Given the description of an element on the screen output the (x, y) to click on. 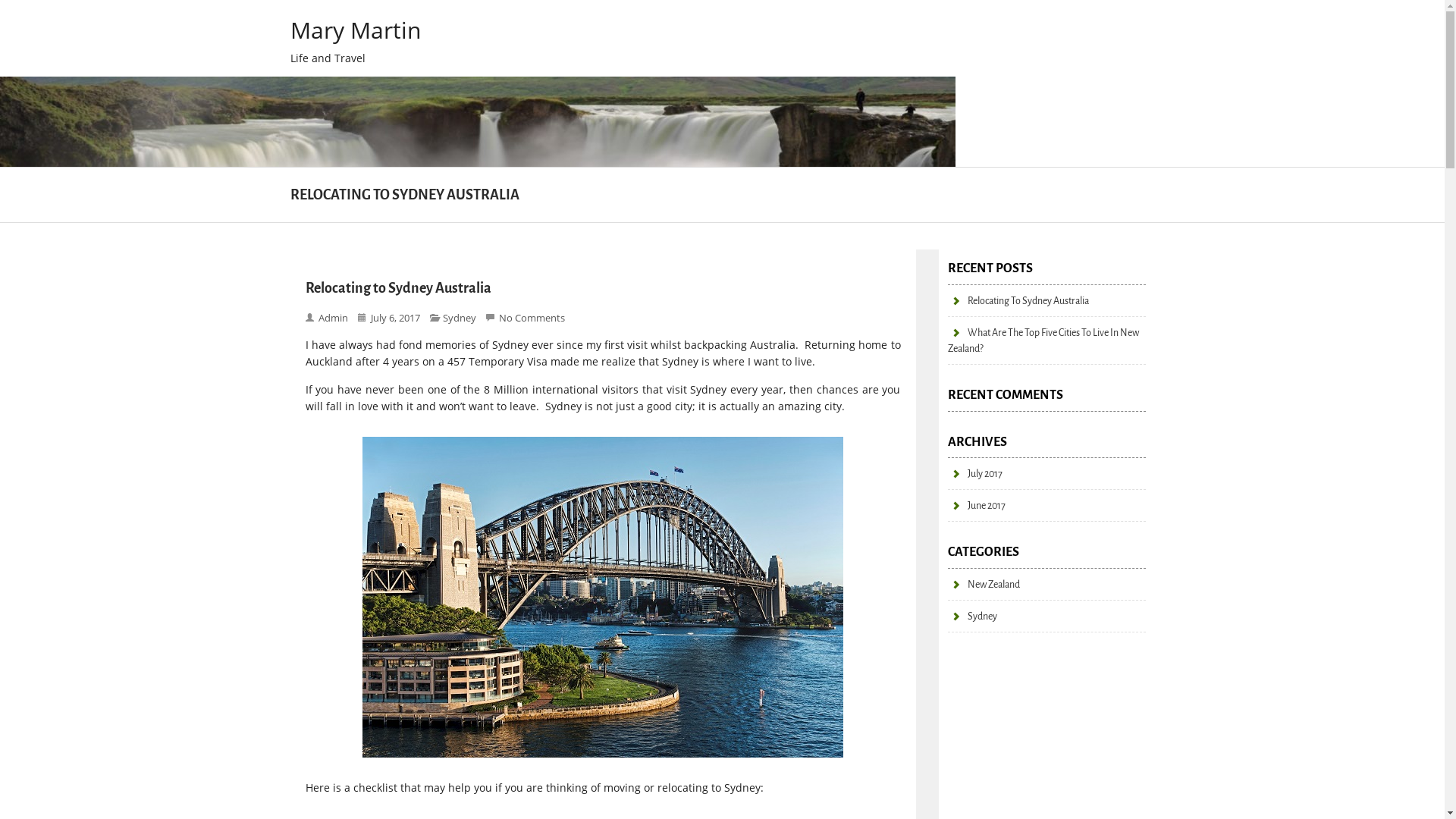
July 6, 2017 Element type: text (395, 317)
Mary Martin Element type: text (389, 29)
What Are The Top Five Cities To Live In New Zealand? Element type: text (1043, 340)
July 2017 Element type: text (974, 473)
Sydney Element type: text (972, 615)
Relocating to Sydney Australia Element type: text (397, 288)
New Zealand Element type: text (983, 583)
Admin Element type: text (334, 317)
June 2017 Element type: text (976, 504)
Sydney Element type: text (460, 317)
Relocating To Sydney Australia Element type: text (1017, 300)
